Given the description of an element on the screen output the (x, y) to click on. 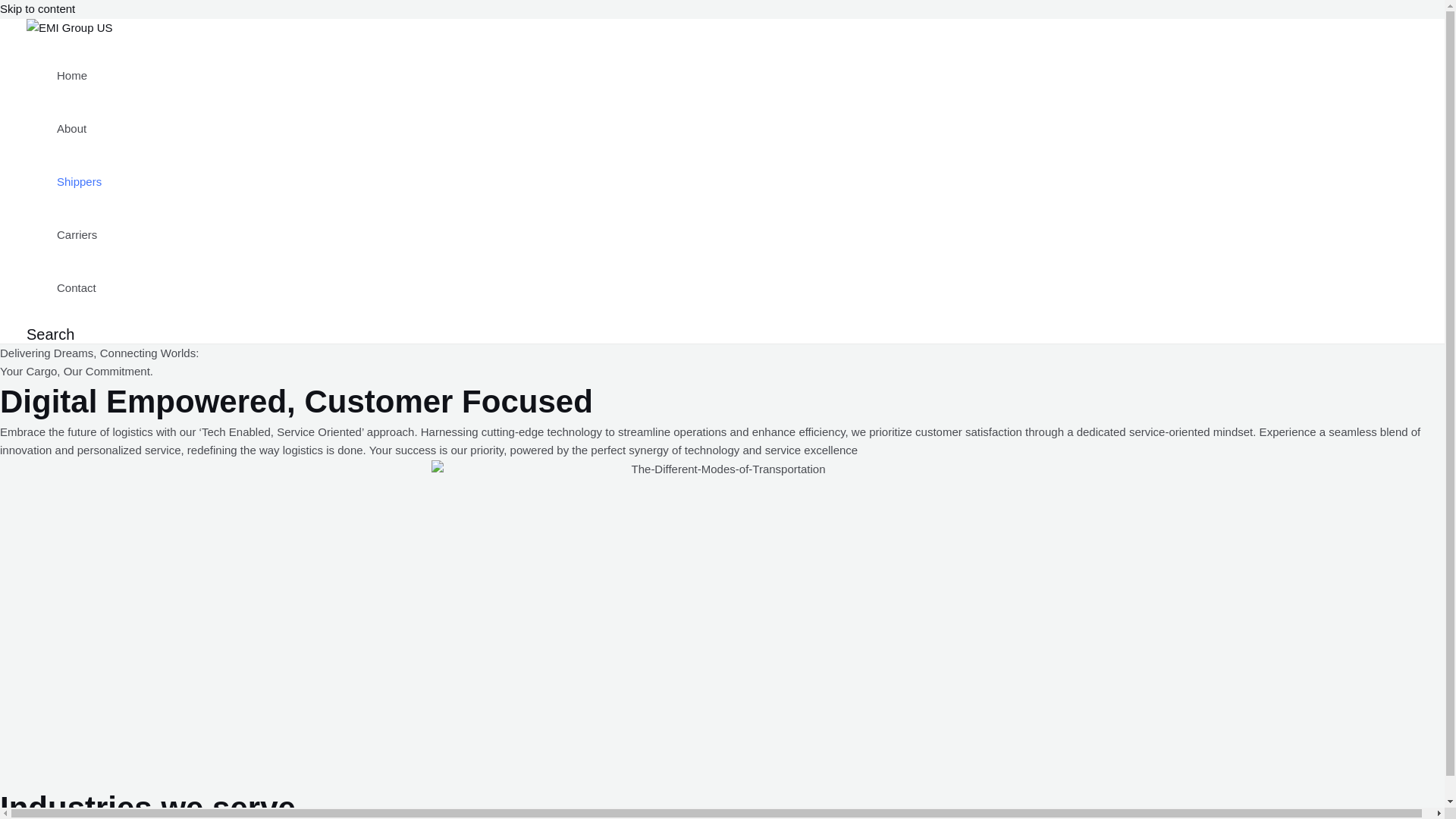
Skip to content (37, 8)
Shippers (78, 181)
Carriers (78, 234)
Contact (78, 287)
Skip to content (37, 8)
Home (78, 74)
About (78, 127)
Search (50, 334)
